Given the description of an element on the screen output the (x, y) to click on. 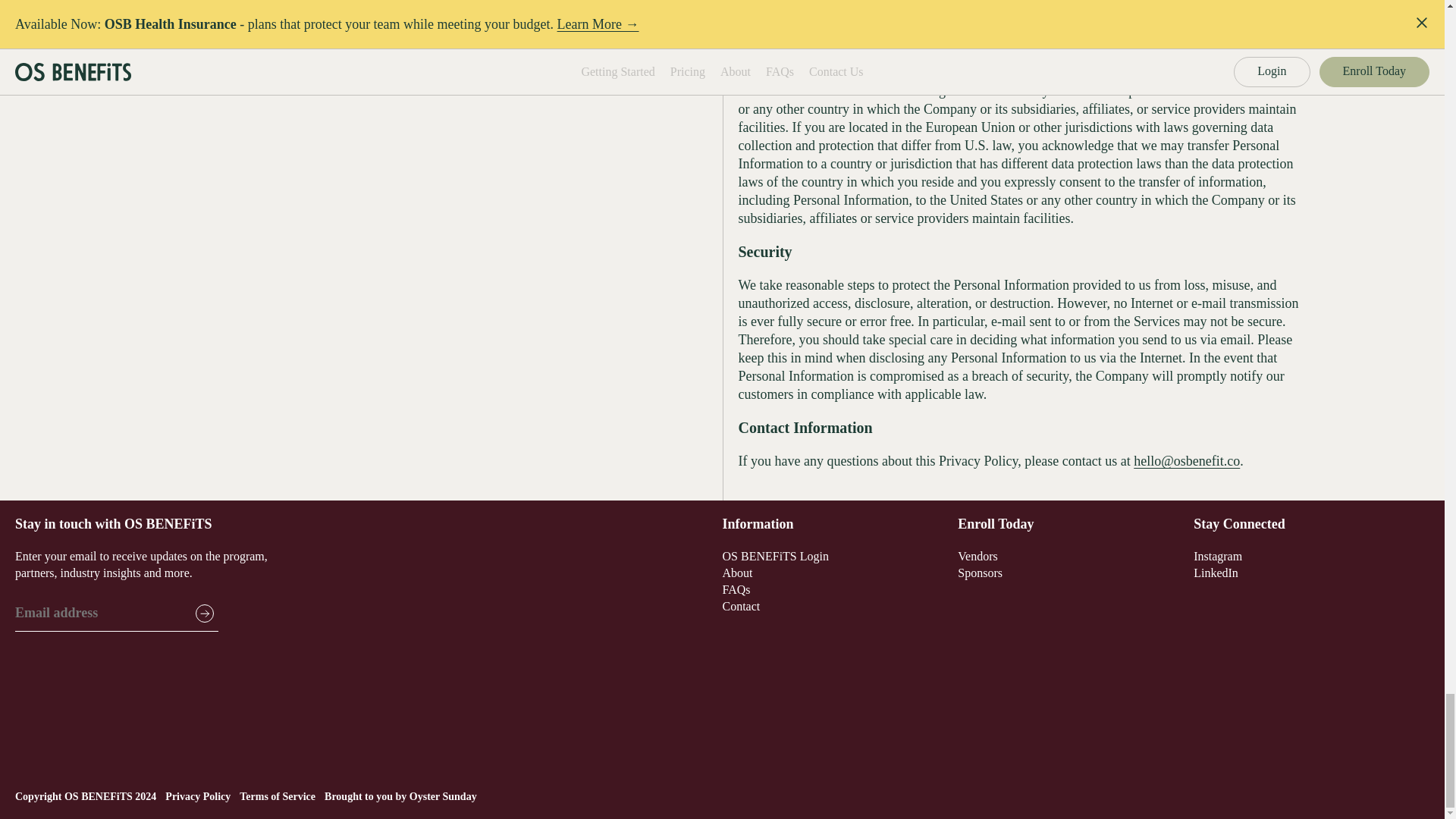
OS BENEFiTS (98, 796)
OS BENEFiTS Login (775, 555)
Sponsors (980, 572)
LinkedIn (1216, 572)
Contact (741, 605)
Instagram (1217, 555)
Vendors (977, 555)
FAQs (735, 589)
Terms of Service (277, 796)
About (737, 572)
